Given the description of an element on the screen output the (x, y) to click on. 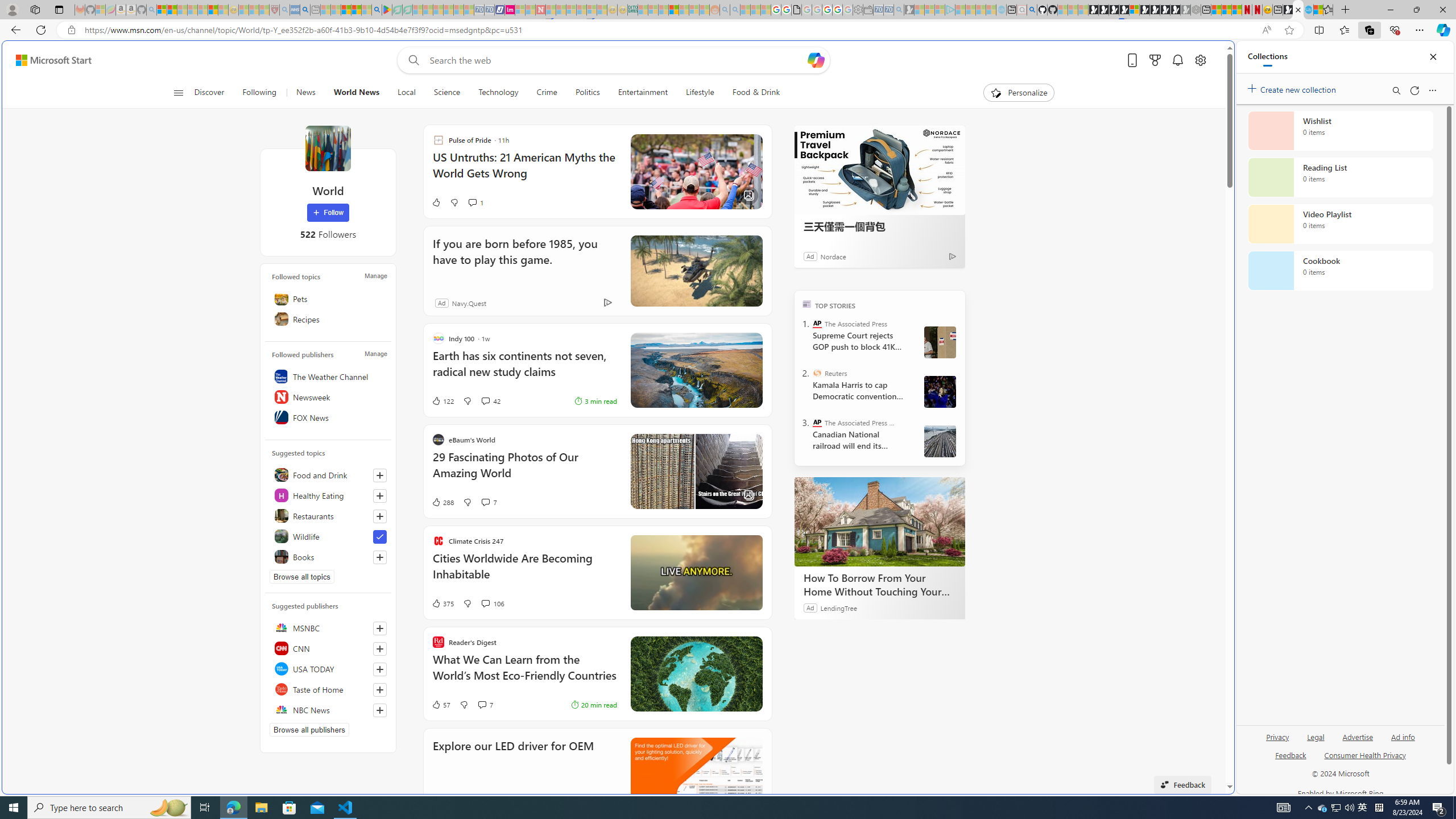
MSNBC (327, 627)
Follow (328, 212)
